Given the description of an element on the screen output the (x, y) to click on. 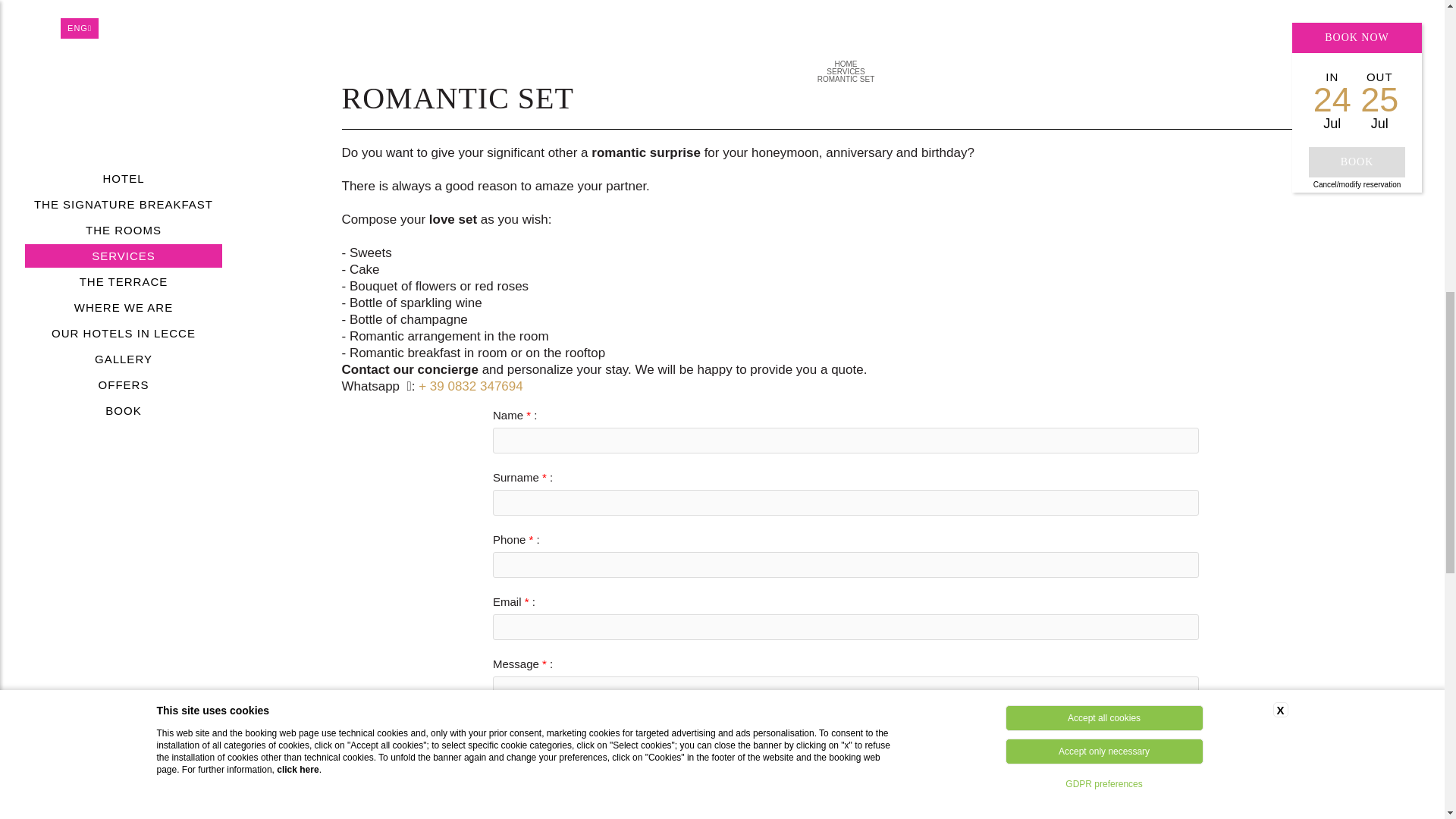
HOME (845, 63)
SERVICES (845, 71)
ROMANTIC SET (845, 79)
